Given the description of an element on the screen output the (x, y) to click on. 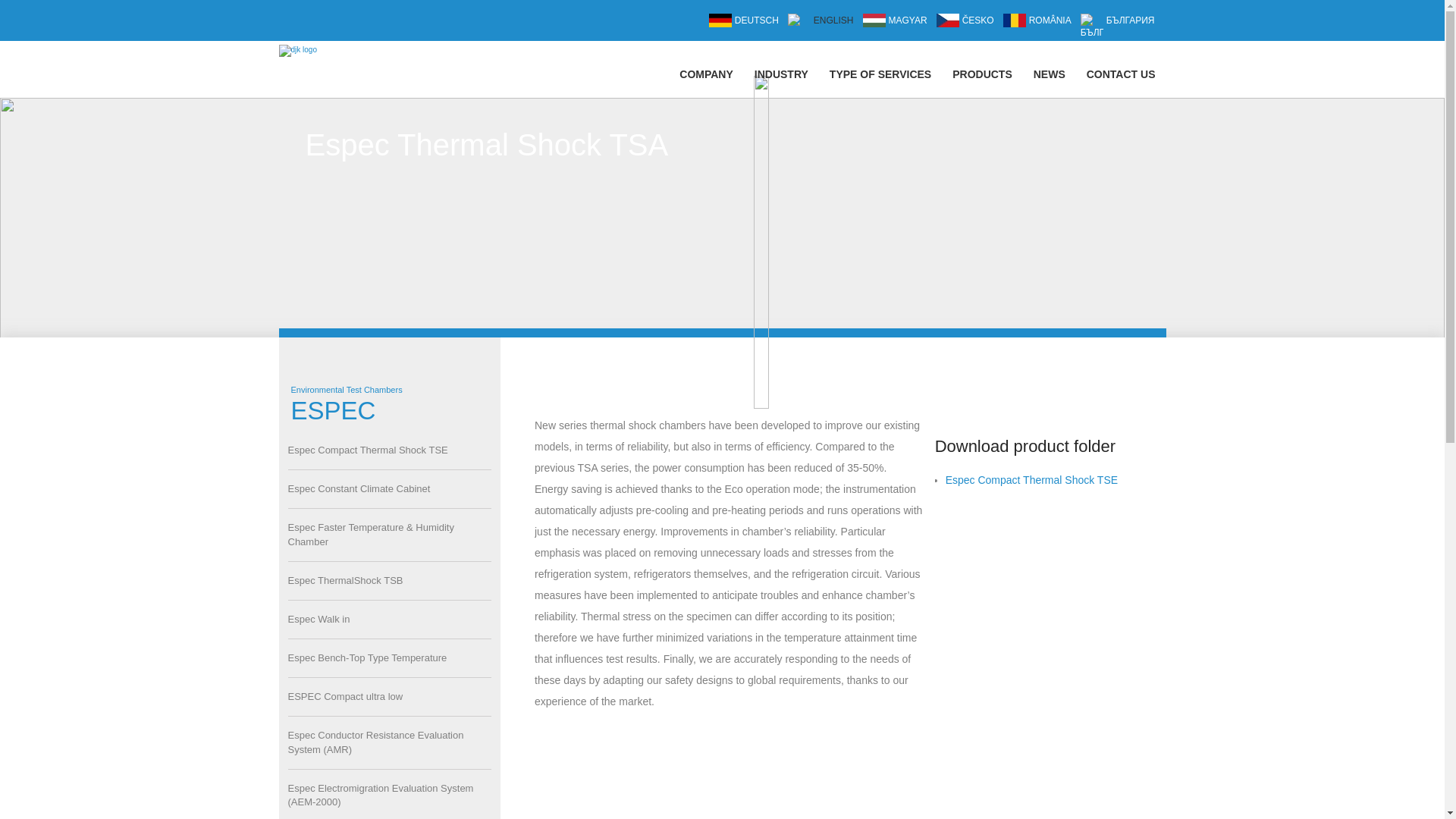
TYPE OF SERVICES (880, 73)
INDUSTRY (781, 73)
COMPANY (706, 73)
MAGYAR (895, 20)
DEUTSCH (743, 20)
